Given the description of an element on the screen output the (x, y) to click on. 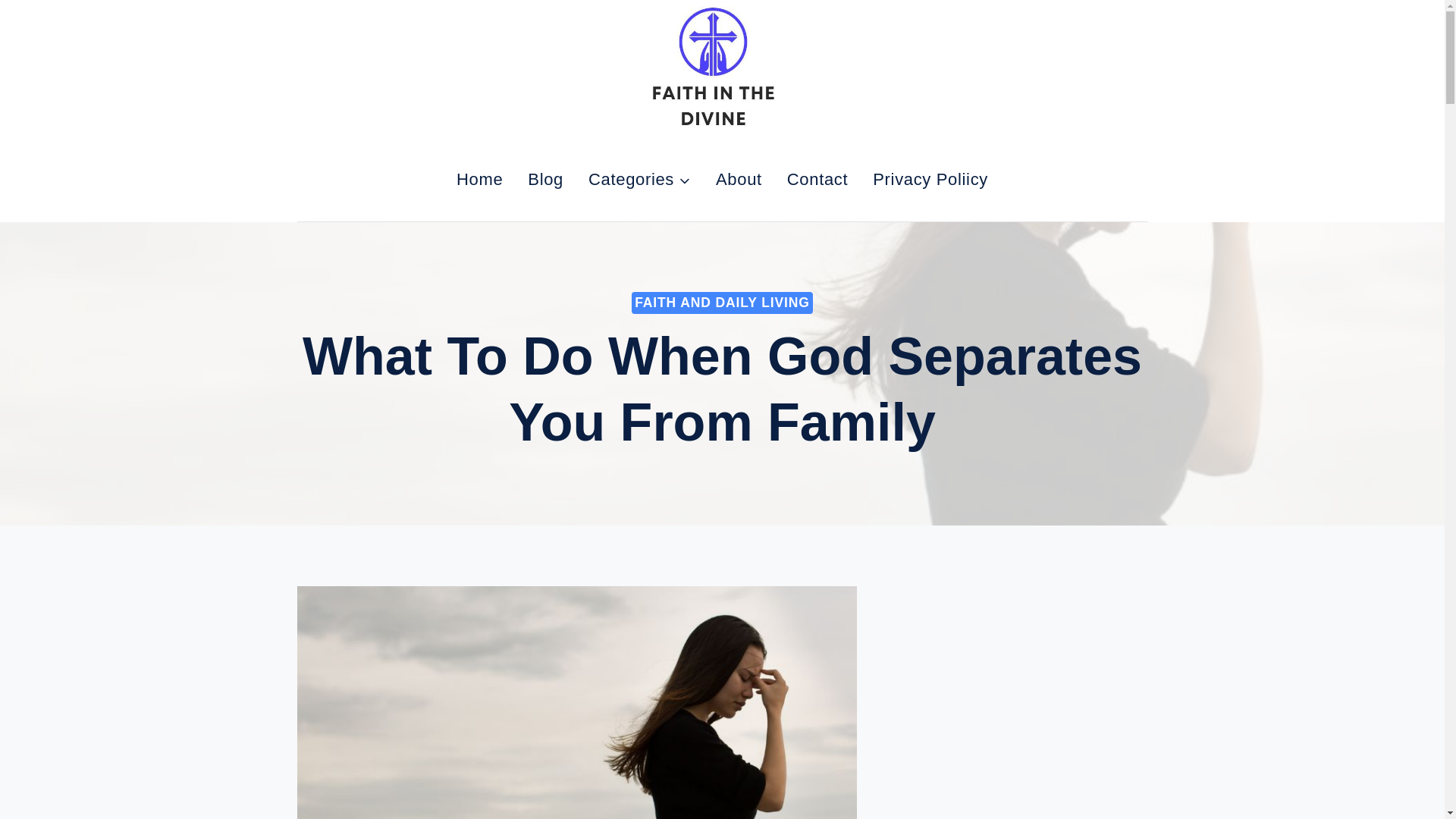
Contact (817, 179)
FAITH AND DAILY LIVING (721, 302)
Privacy Poliicy (930, 179)
About (738, 179)
Blog (545, 179)
Home (479, 179)
Categories (639, 179)
